Given the description of an element on the screen output the (x, y) to click on. 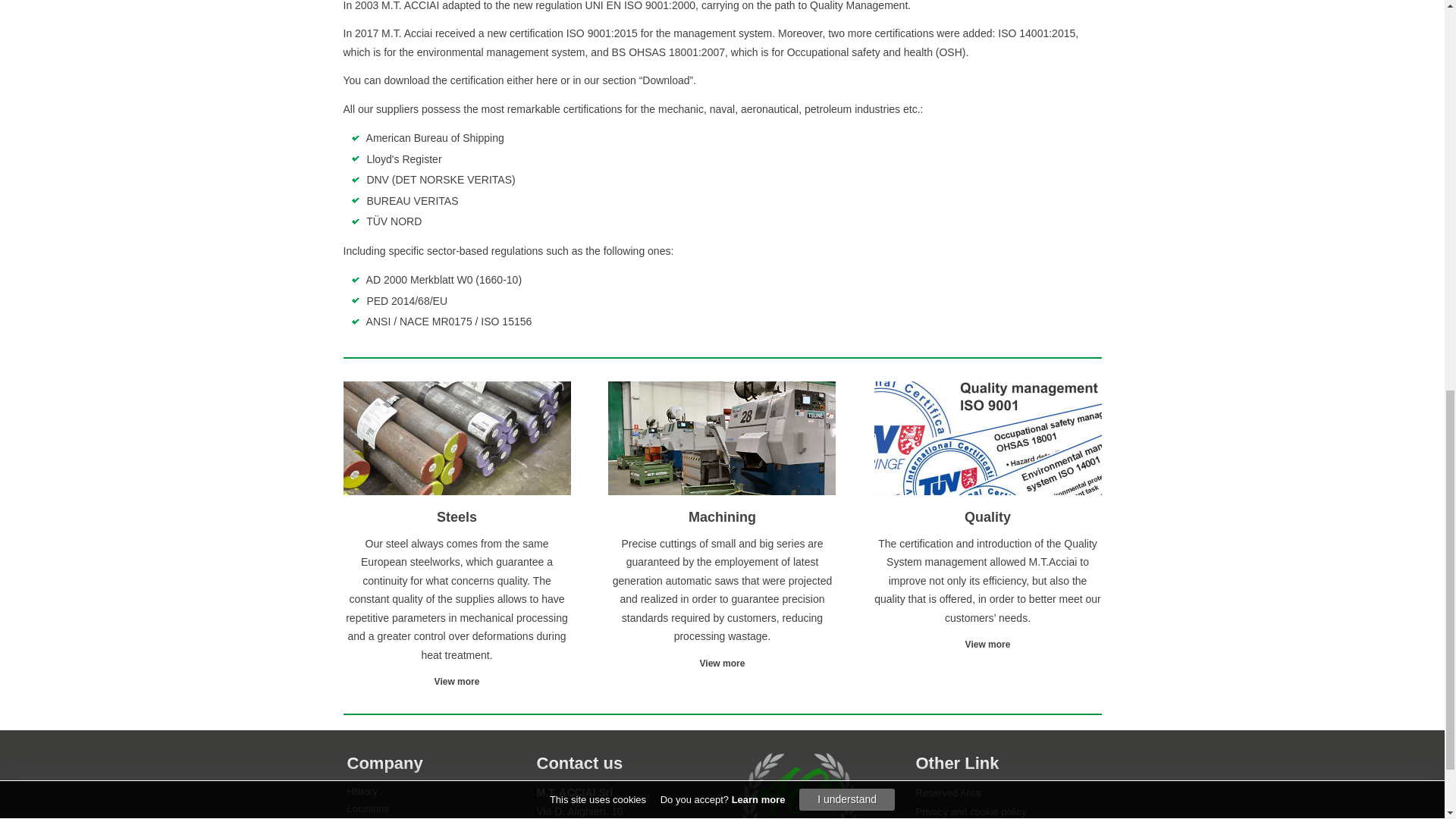
Quality System (987, 644)
Privacy and cookie policy (970, 811)
Reserved Area (948, 792)
Steels (456, 681)
Machining (722, 663)
